Given the description of an element on the screen output the (x, y) to click on. 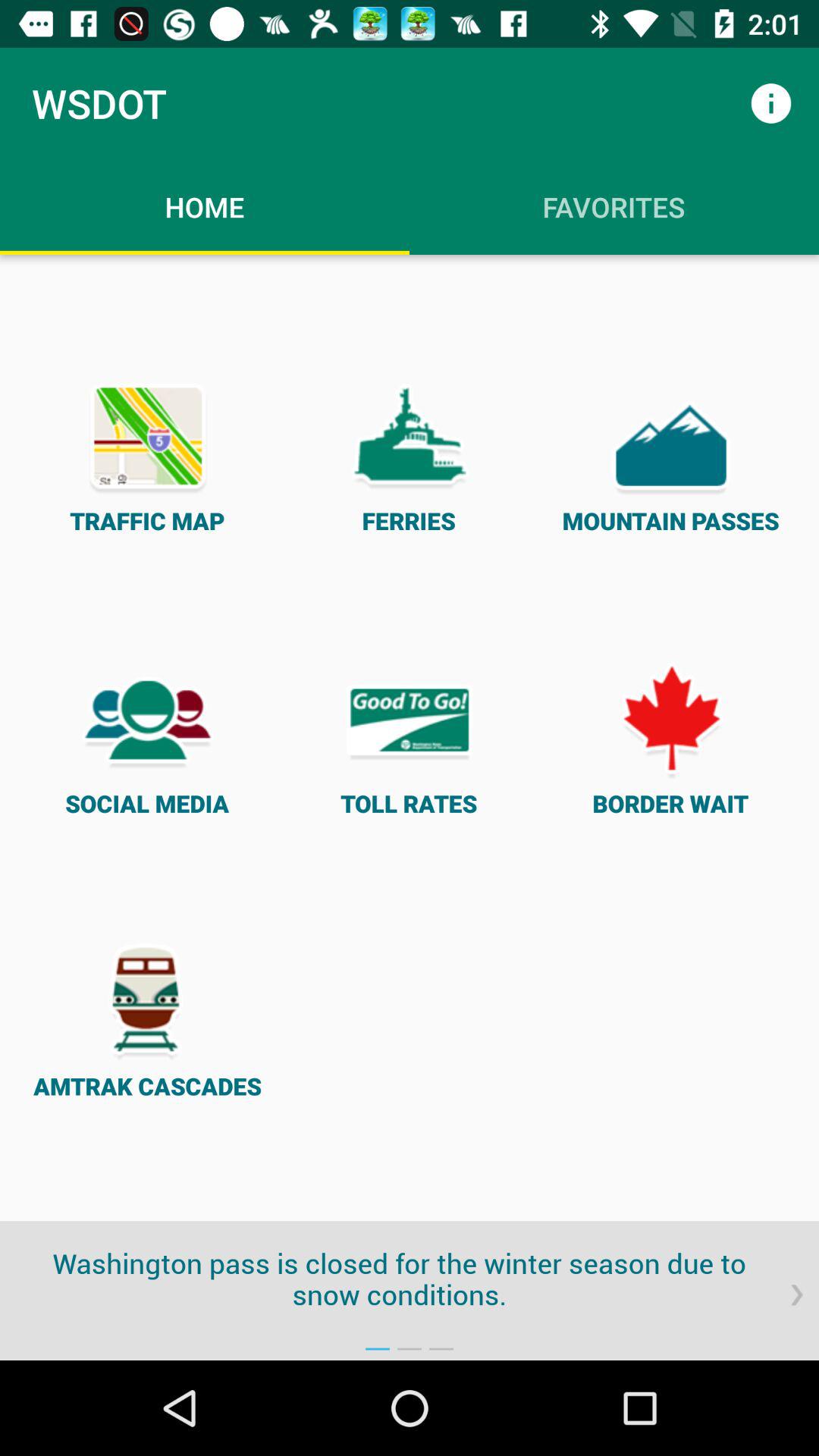
open the icon next to ferries item (147, 455)
